Given the description of an element on the screen output the (x, y) to click on. 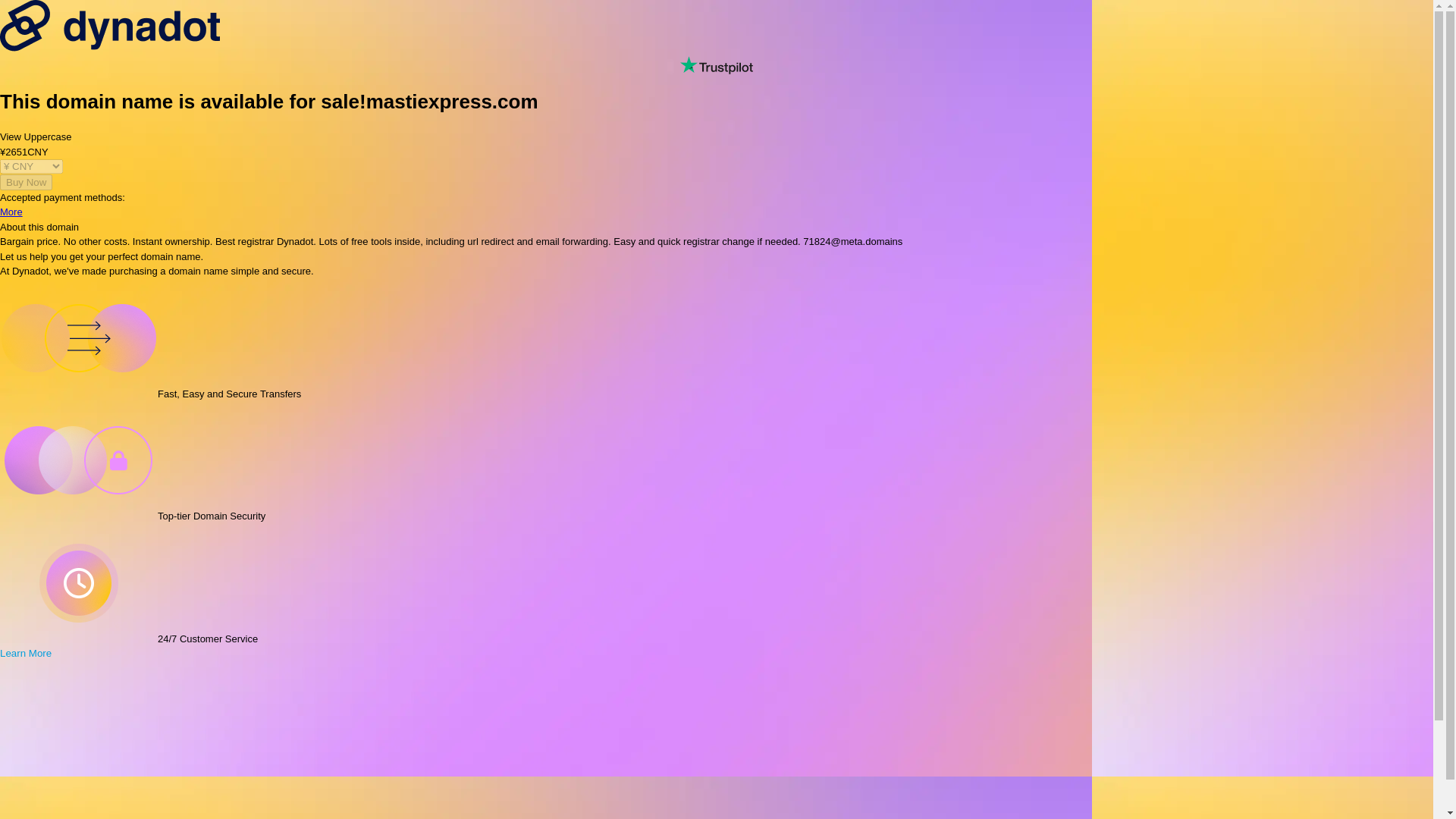
Buy Now (26, 182)
Customer reviews powered by Trustpilot (716, 65)
Learn More (32, 653)
More (11, 211)
